Given the description of an element on the screen output the (x, y) to click on. 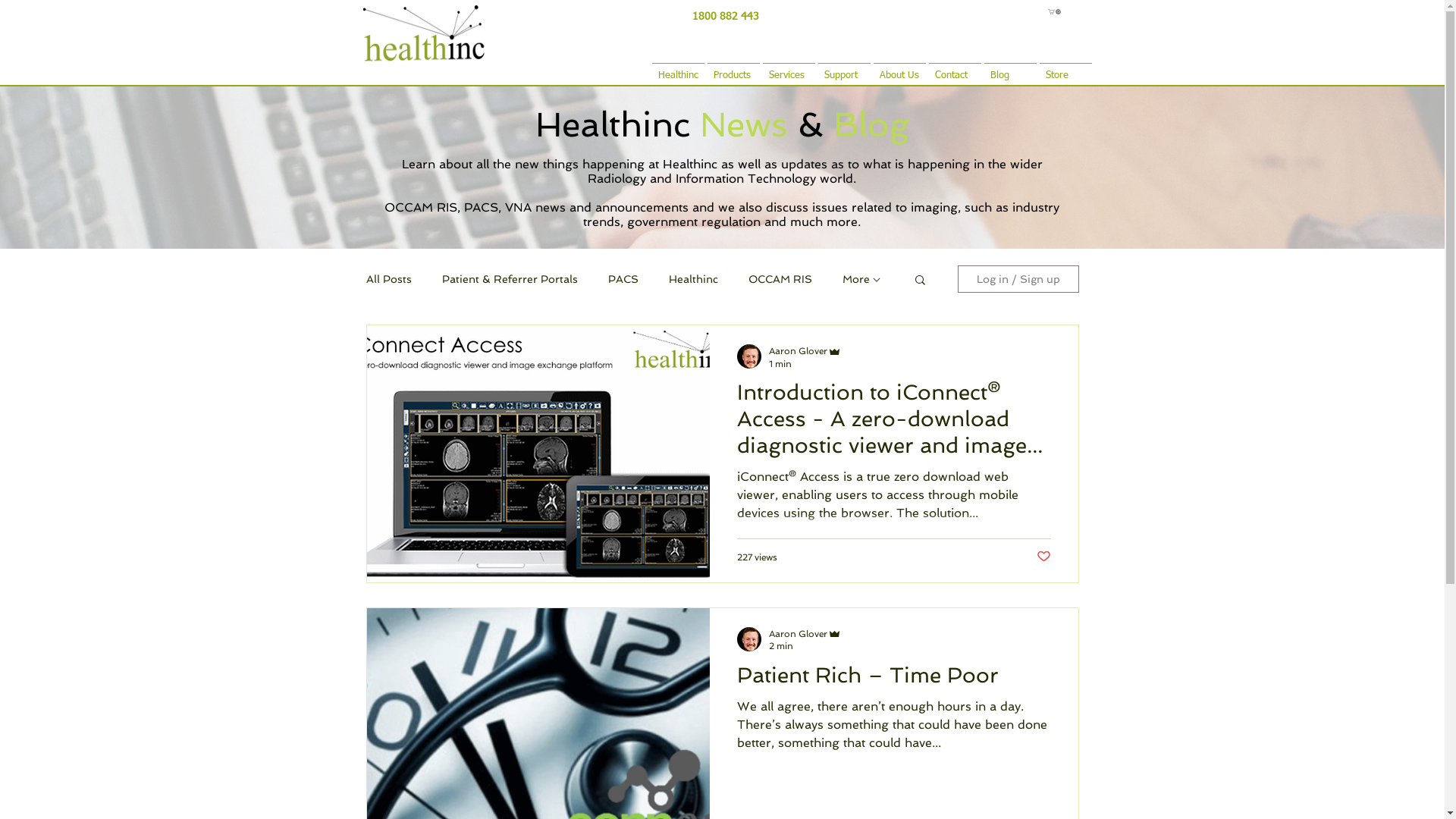
Support Element type: text (843, 68)
Post not marked as liked Element type: text (1042, 556)
1800 882 443  Element type: text (726, 15)
Products Element type: text (732, 68)
Log in / Sign up Element type: text (1017, 278)
Healthinc Element type: text (678, 68)
Blog Element type: text (1010, 68)
Contact Element type: text (954, 68)
0 Element type: text (1054, 11)
Store Element type: text (1064, 68)
Services Element type: text (788, 68)
About Us Element type: text (899, 68)
Go to Healthinc Home Page Element type: hover (433, 32)
